Given the description of an element on the screen output the (x, y) to click on. 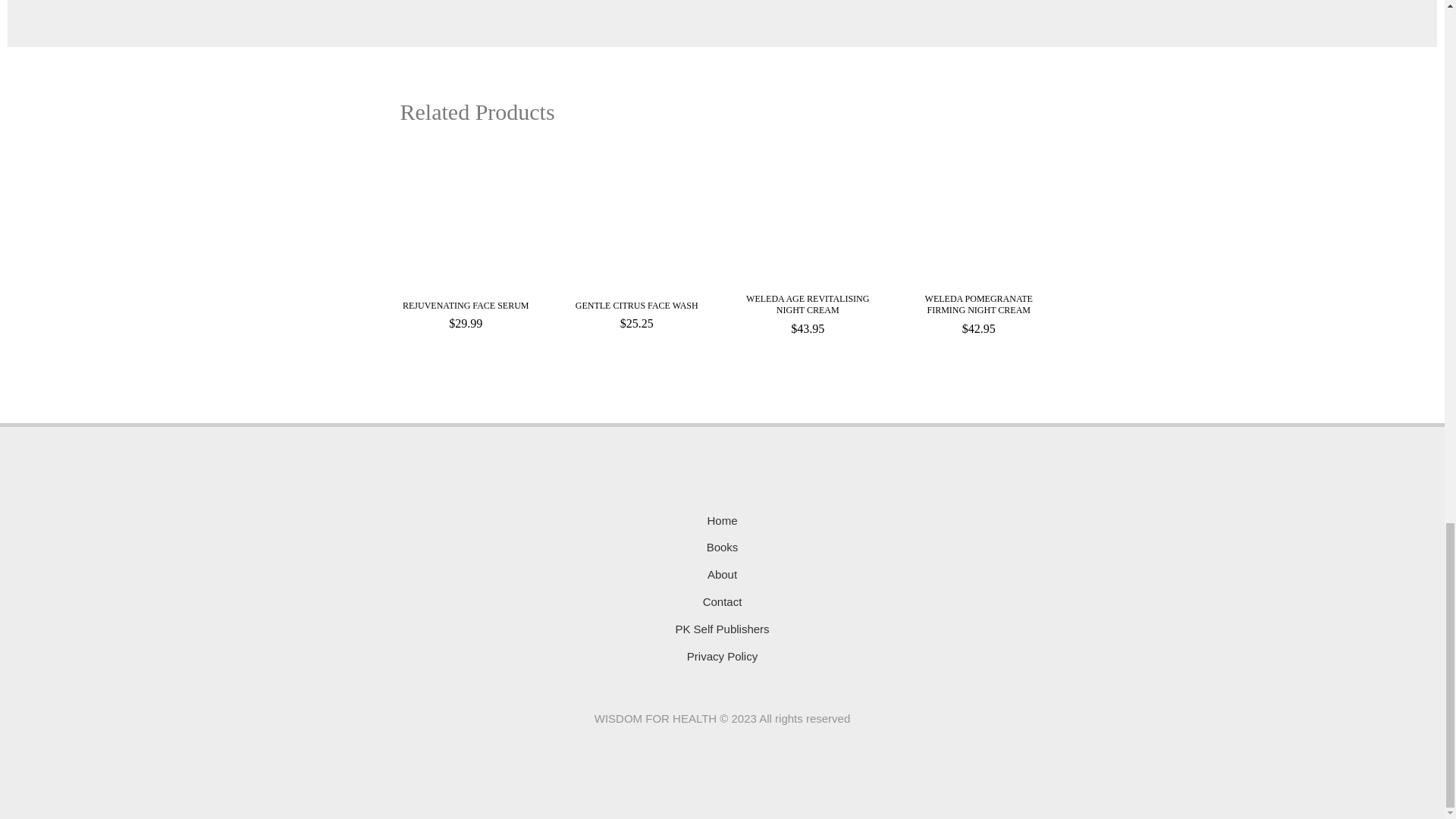
Books (722, 547)
Privacy Policy (722, 656)
WELEDA POMEGRANATE FIRMING NIGHT CREAM (978, 307)
Home (721, 520)
WELEDA AGE REVITALISING NIGHT CREAM (807, 307)
REJUVENATING FACE SERUM (466, 308)
PK Self Publishers (721, 629)
Contact (722, 601)
About (721, 574)
GENTLE CITRUS FACE WASH (636, 308)
